Given the description of an element on the screen output the (x, y) to click on. 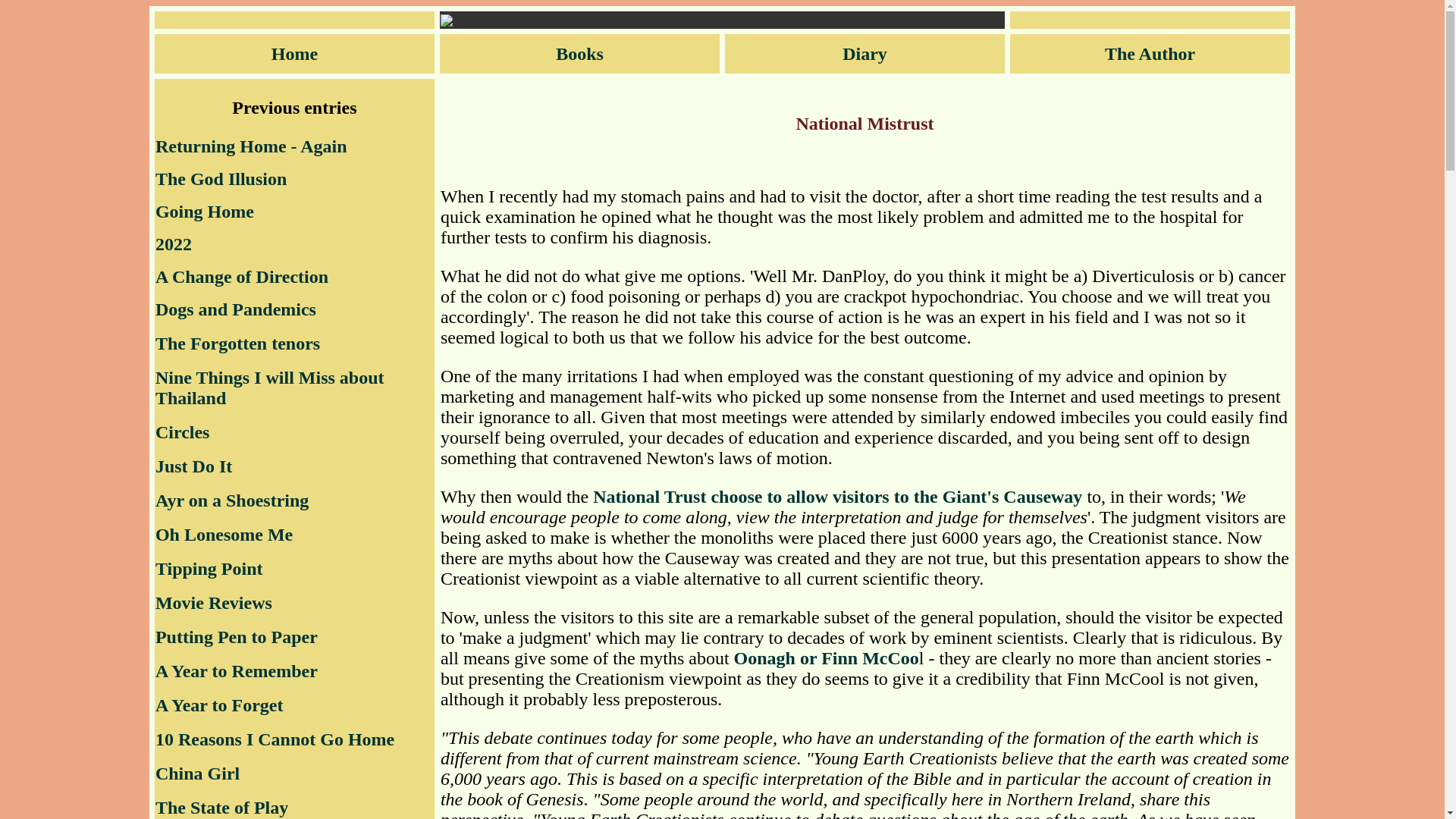
Ayr on a Shoestring (231, 500)
The Forgotten tenors (237, 342)
Diary (864, 53)
Oh Lonesome Me (223, 534)
2022 (173, 243)
Circles (182, 432)
The God Illusion (220, 178)
A Year to Forget (219, 704)
The State of Play (221, 807)
Putting Pen to Paper (236, 637)
